Given the description of an element on the screen output the (x, y) to click on. 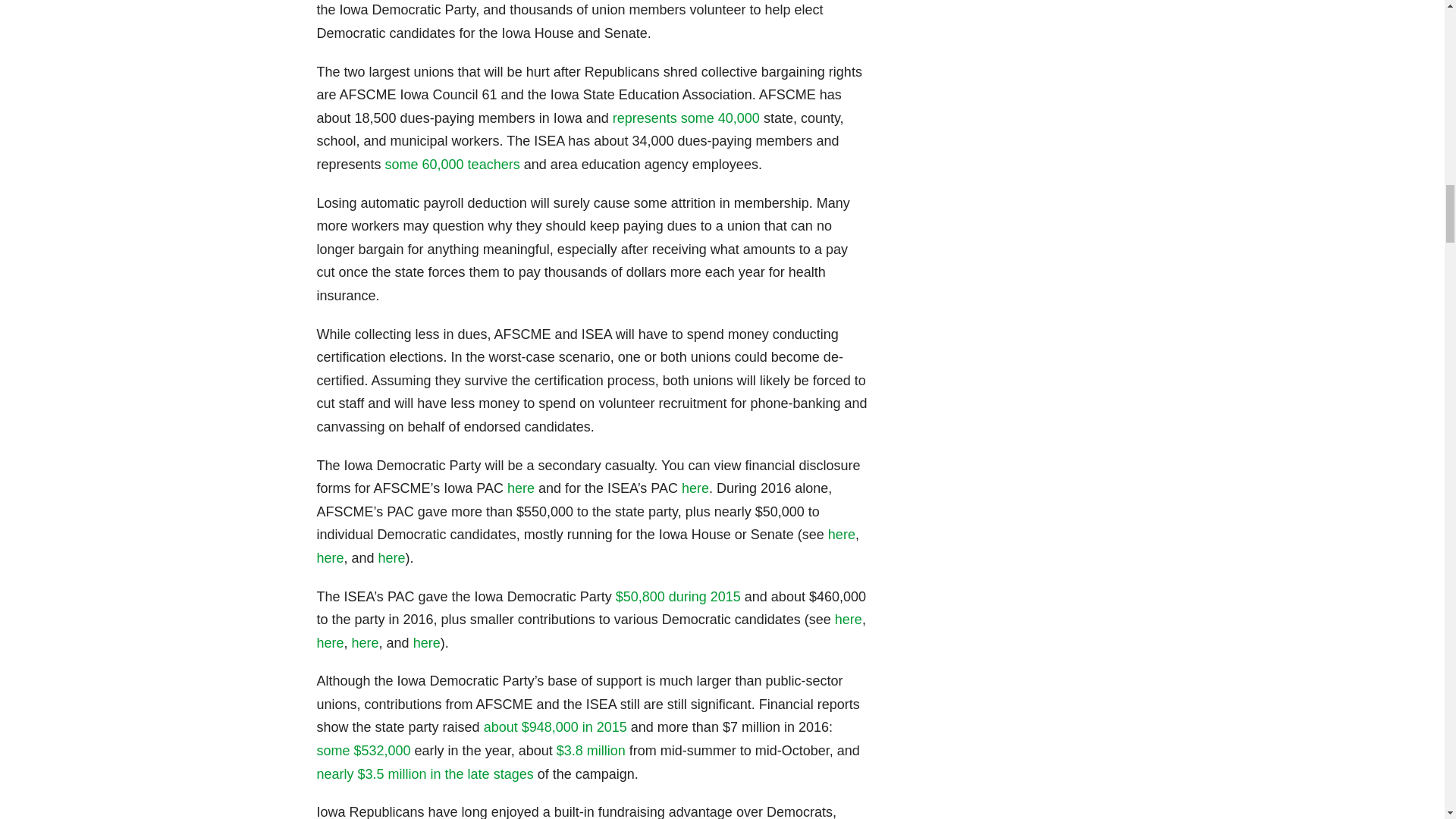
here (392, 557)
some 60,000 teachers (452, 164)
here (330, 642)
here (330, 557)
here (847, 619)
here (842, 534)
here (427, 642)
here (365, 642)
here (695, 488)
here (520, 488)
